Given the description of an element on the screen output the (x, y) to click on. 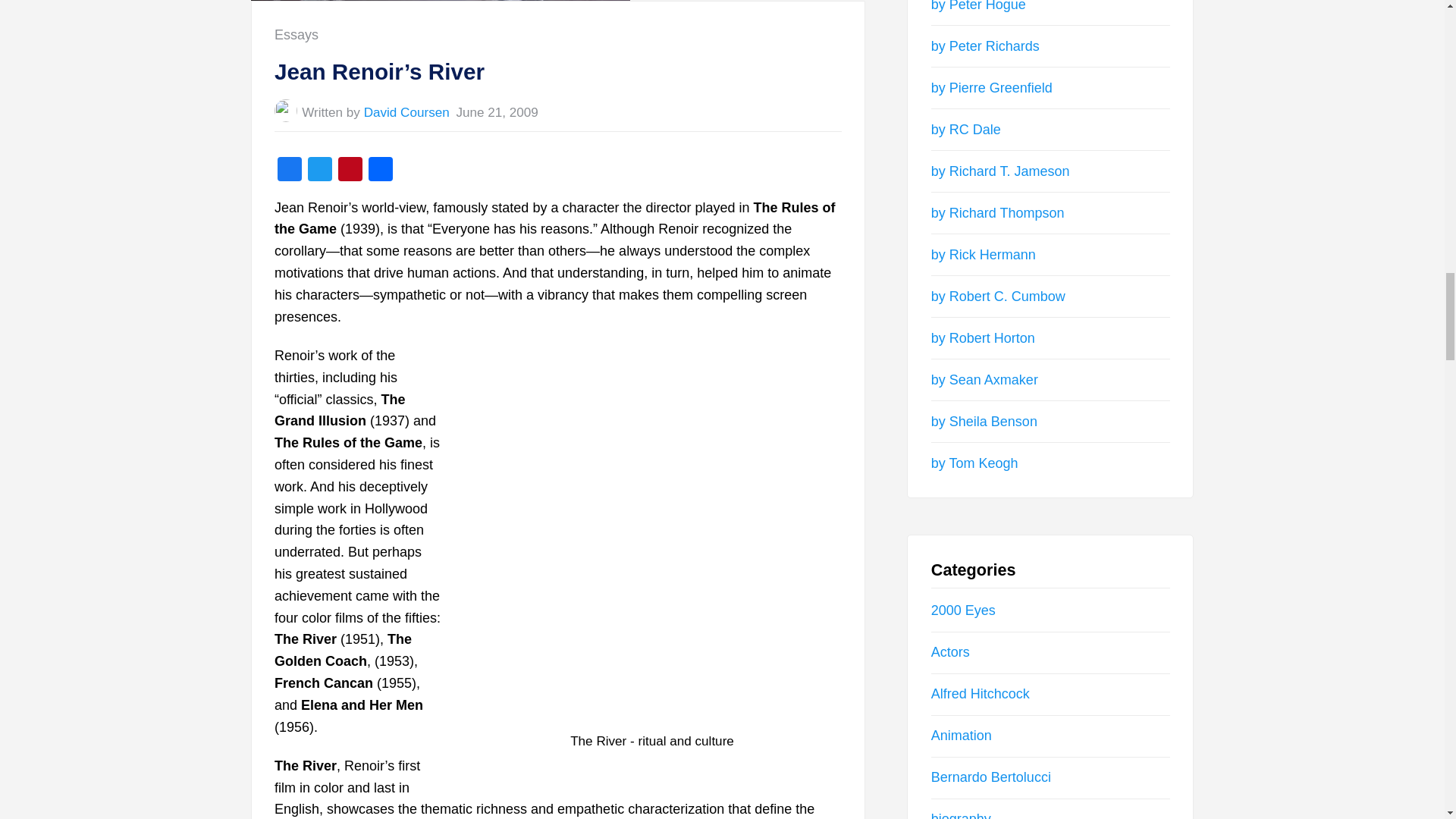
Twitter (319, 171)
Pinterest (349, 171)
Facebook (289, 171)
